Given the description of an element on the screen output the (x, y) to click on. 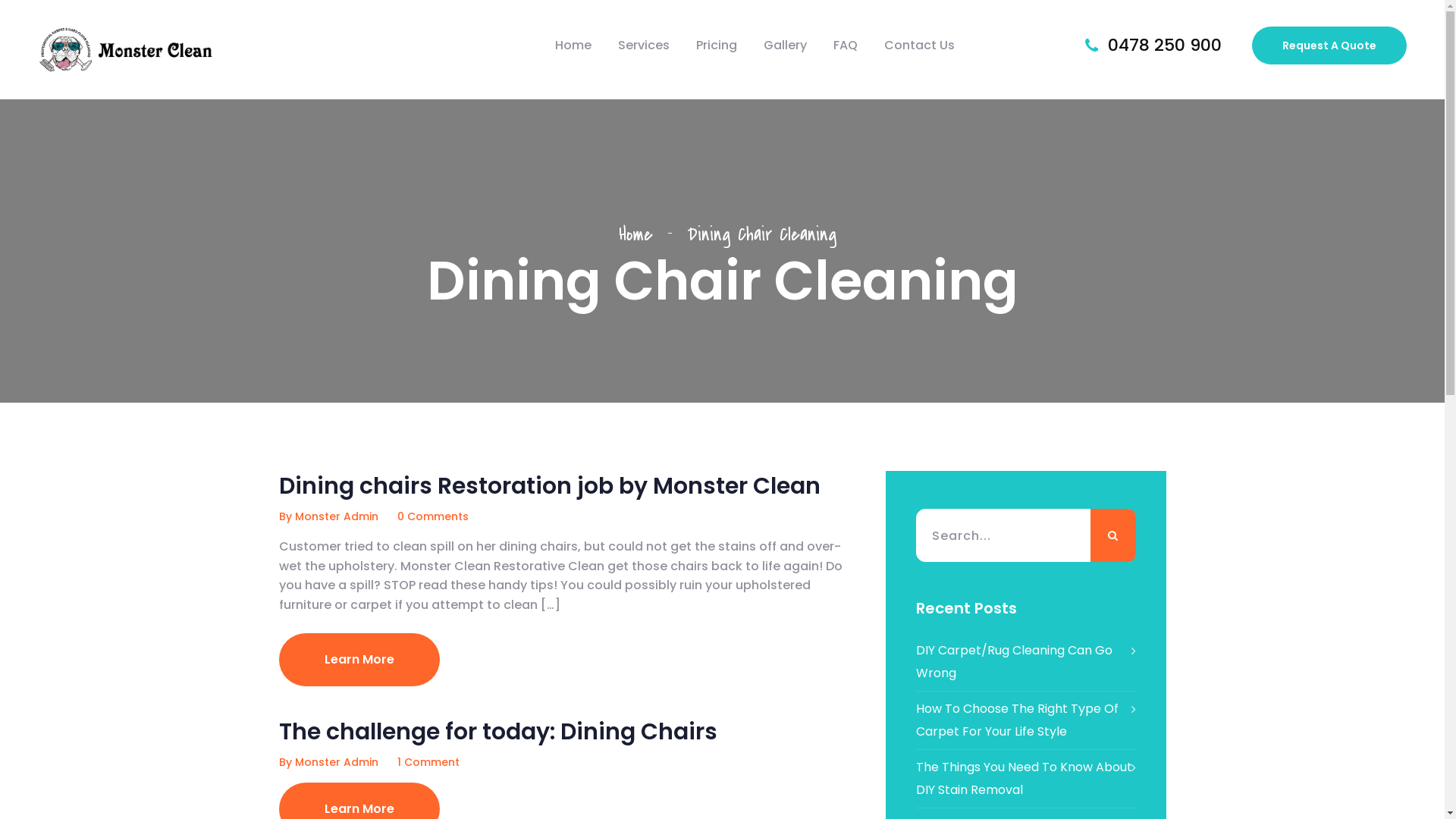
By Monster Admin Element type: text (328, 516)
The challenge for today: Dining Chairs Element type: text (498, 731)
Monster Carpet & Hard Floor Cleaning Melbourne Element type: hover (125, 48)
Gallery Element type: text (784, 45)
0478 250 900 Element type: text (1164, 44)
Pricing Element type: text (716, 45)
1 Comment Element type: text (428, 761)
The Things You Need To Know About DIY Stain Removal Element type: text (1025, 778)
Request A Quote Element type: text (1329, 45)
Dining Chair Cleaning Element type: text (761, 233)
0 Comments Element type: text (432, 516)
How To Choose The Right Type Of Carpet For Your Life Style Element type: text (1025, 720)
Dining chairs Restoration job by Monster Clean Element type: text (549, 486)
DIY Carpet/Rug Cleaning Can Go Wrong Element type: text (1025, 661)
Home   Element type: text (643, 233)
FAQ Element type: text (845, 45)
Services Element type: text (643, 45)
Contact Us Element type: text (919, 45)
Learn More Element type: text (359, 659)
Home Element type: text (573, 45)
By Monster Admin Element type: text (328, 761)
